Given the description of an element on the screen output the (x, y) to click on. 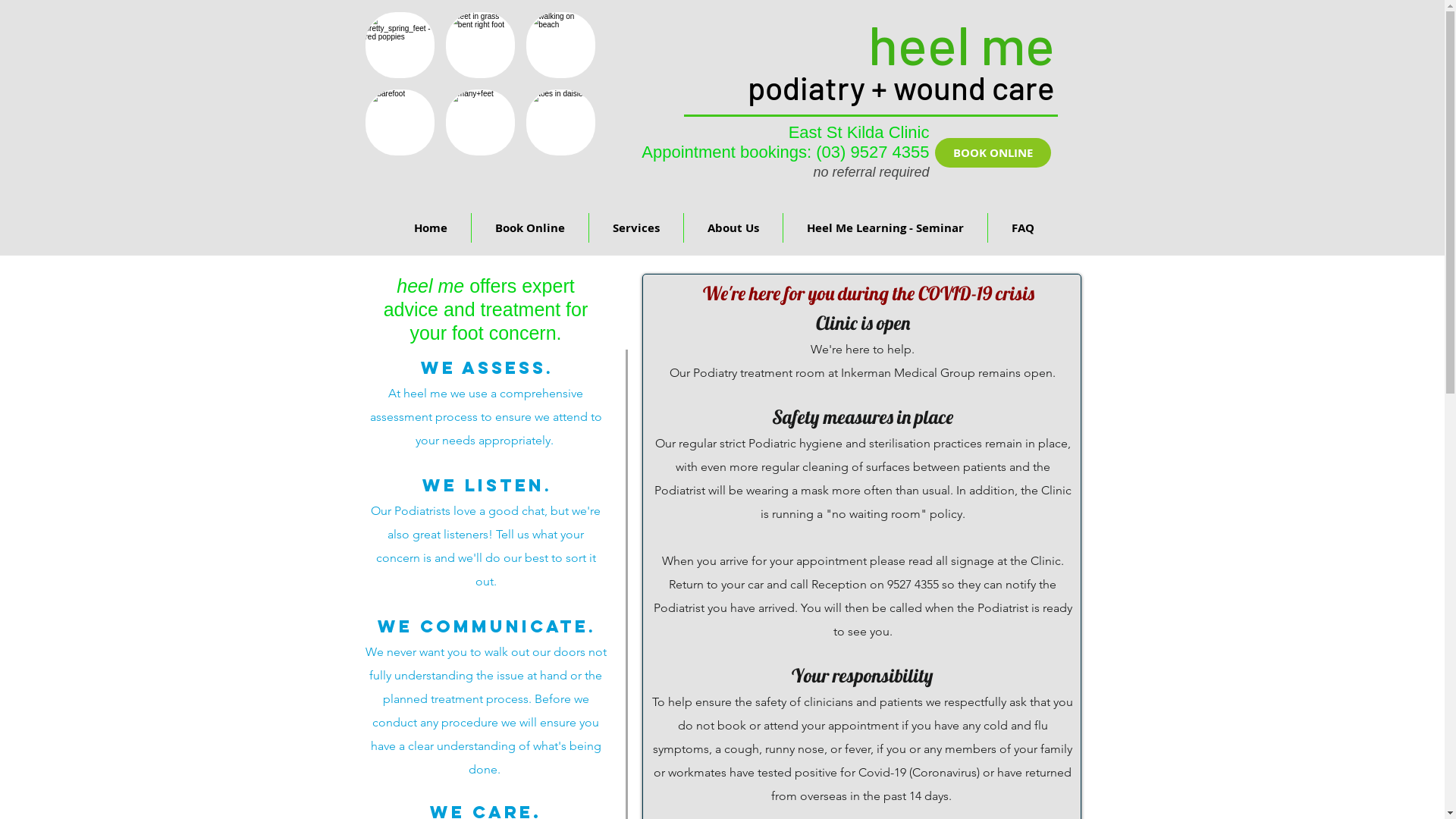
Services Element type: text (635, 227)
Home Element type: text (429, 227)
About Us Element type: text (733, 227)
FAQ Element type: text (1022, 227)
Heel Me Learning - Seminar Element type: text (884, 227)
Book Online Element type: text (529, 227)
BOOK ONLINE Element type: text (992, 152)
